Given the description of an element on the screen output the (x, y) to click on. 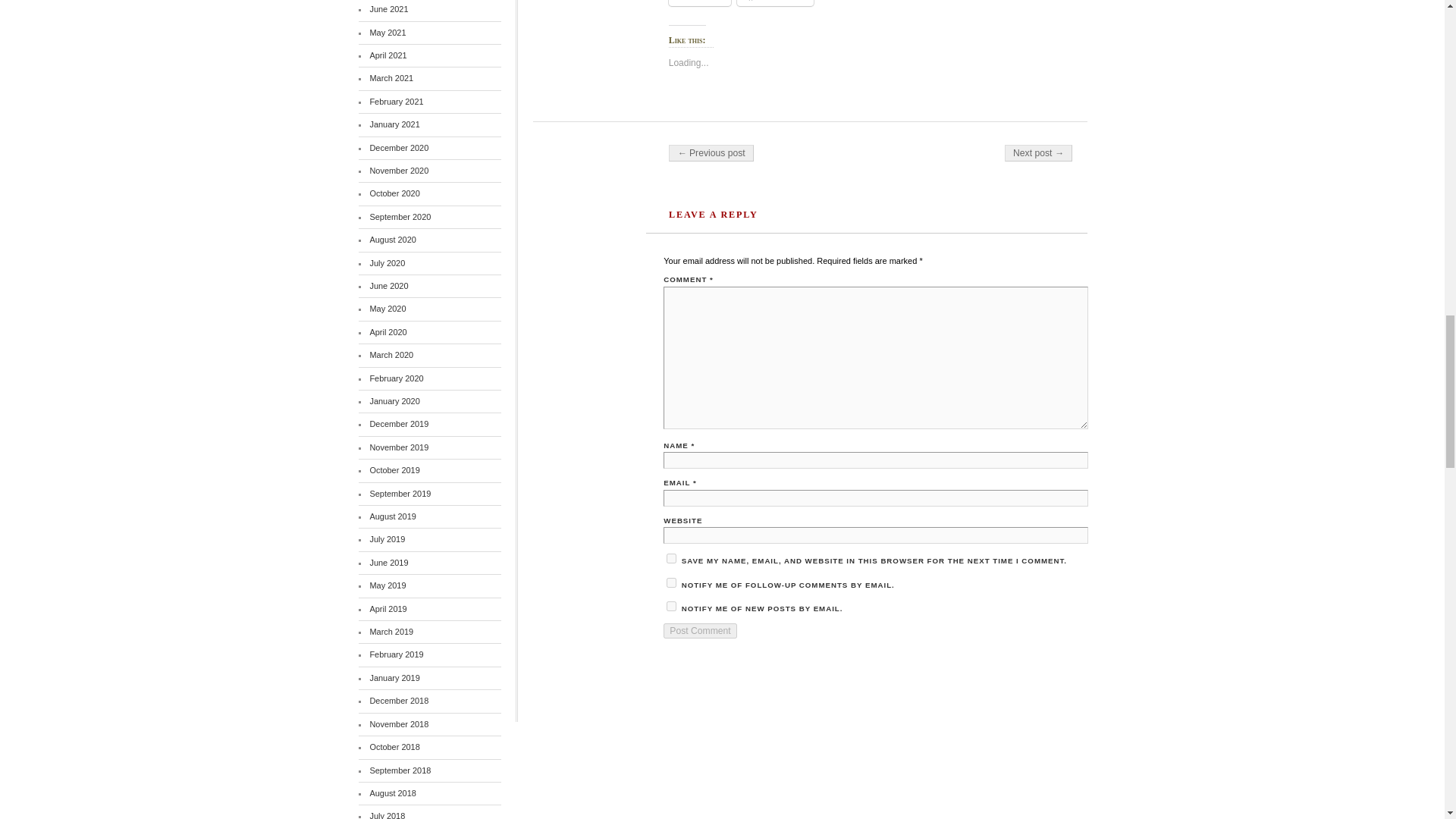
Post Comment (699, 630)
Twitter (699, 2)
yes (671, 558)
subscribe (671, 605)
Facebook (774, 2)
Post Comment (699, 630)
subscribe (671, 583)
Click to share on Twitter (699, 2)
Click to share on Facebook (774, 2)
